Given the description of an element on the screen output the (x, y) to click on. 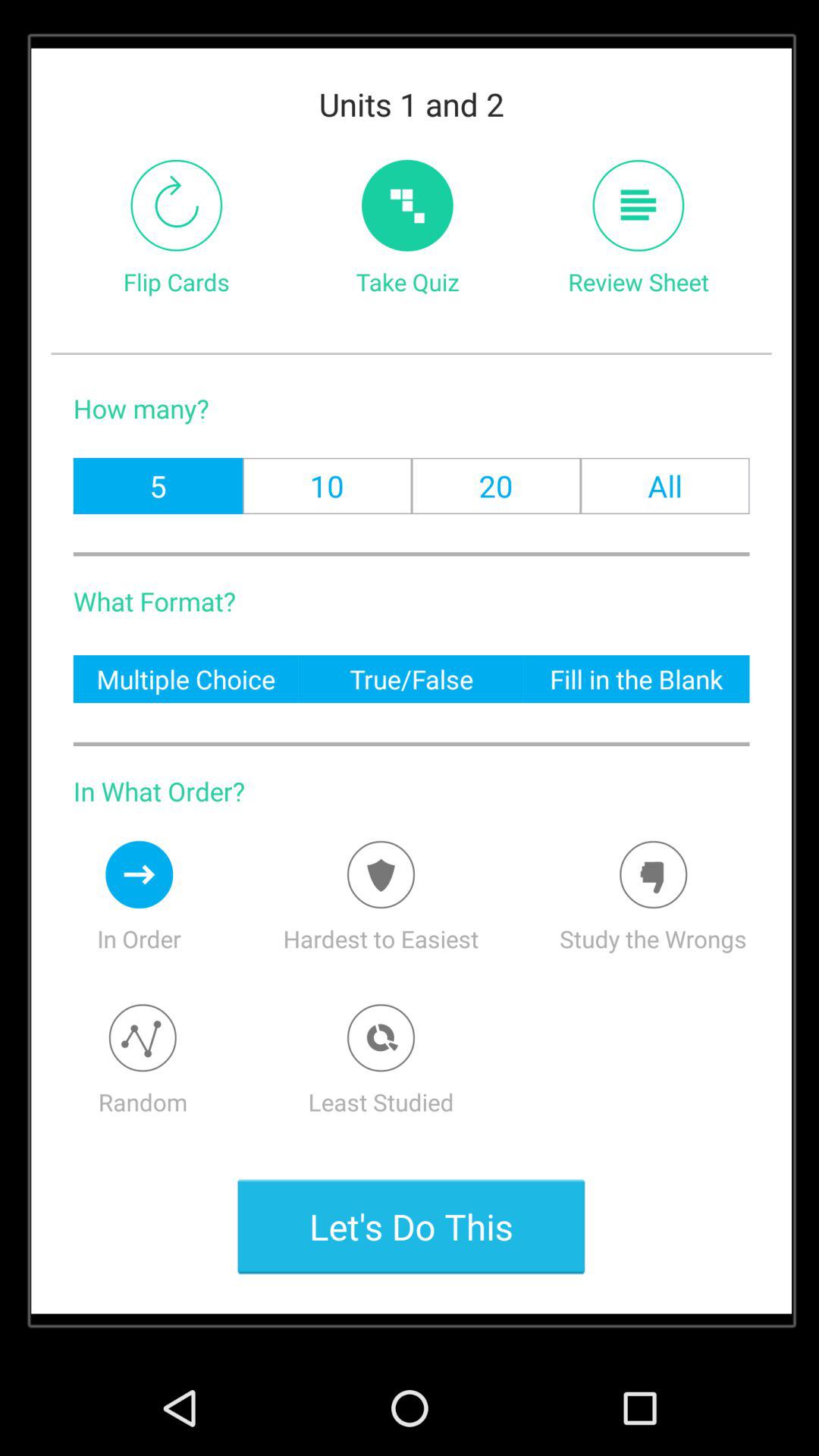
turn on icon next to the true/false (185, 678)
